Given the description of an element on the screen output the (x, y) to click on. 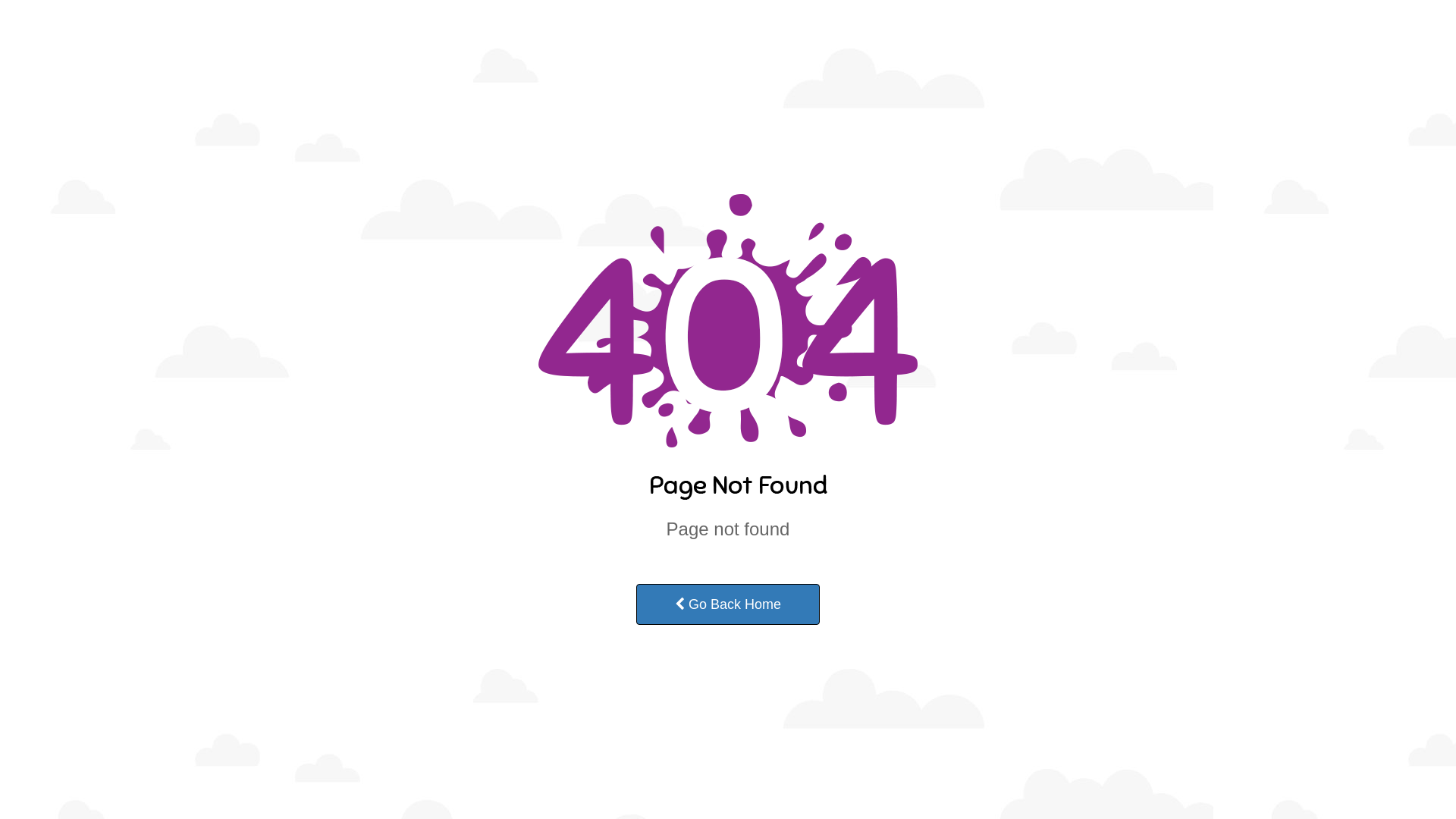
Go Back Home Element type: text (727, 603)
